Given the description of an element on the screen output the (x, y) to click on. 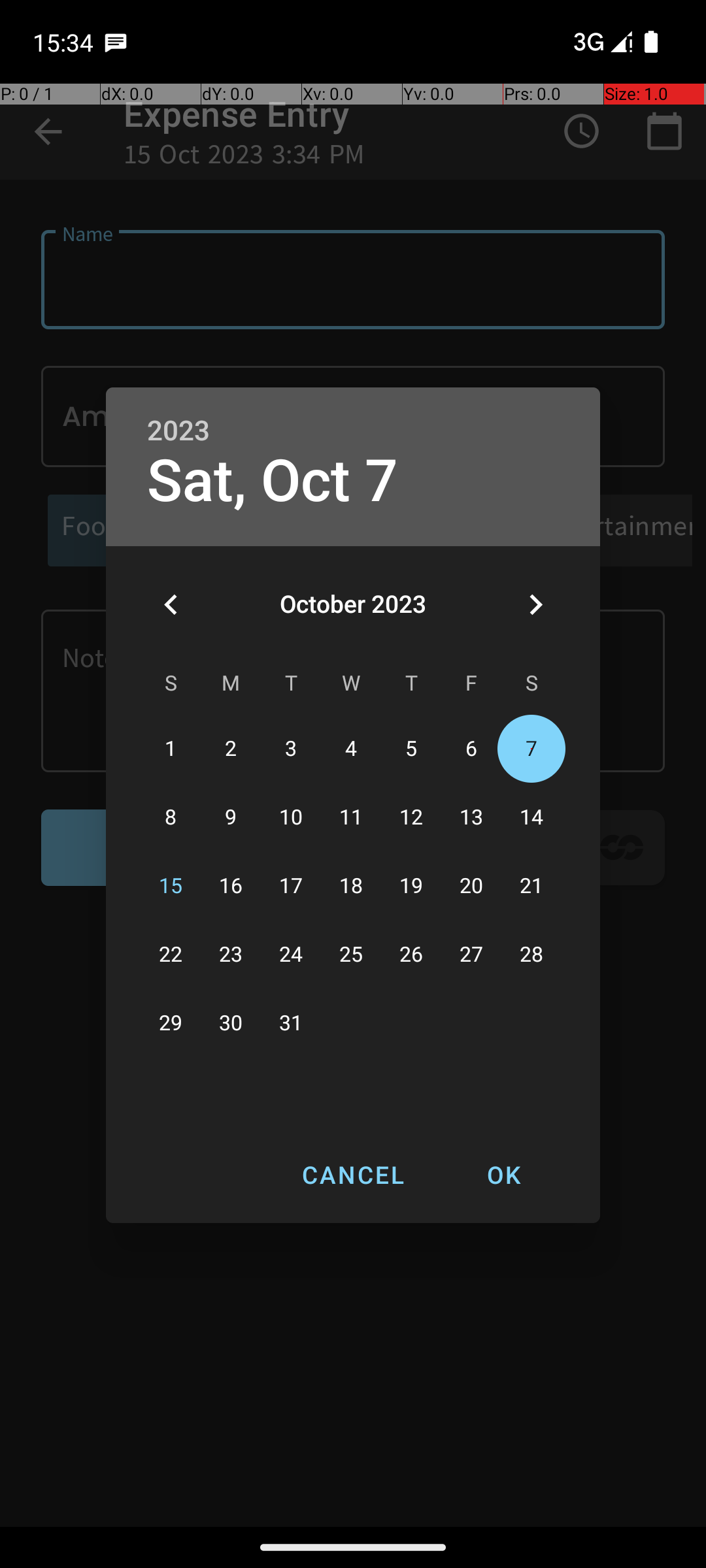
Sat, Oct 7 Element type: android.widget.TextView (272, 480)
